Given the description of an element on the screen output the (x, y) to click on. 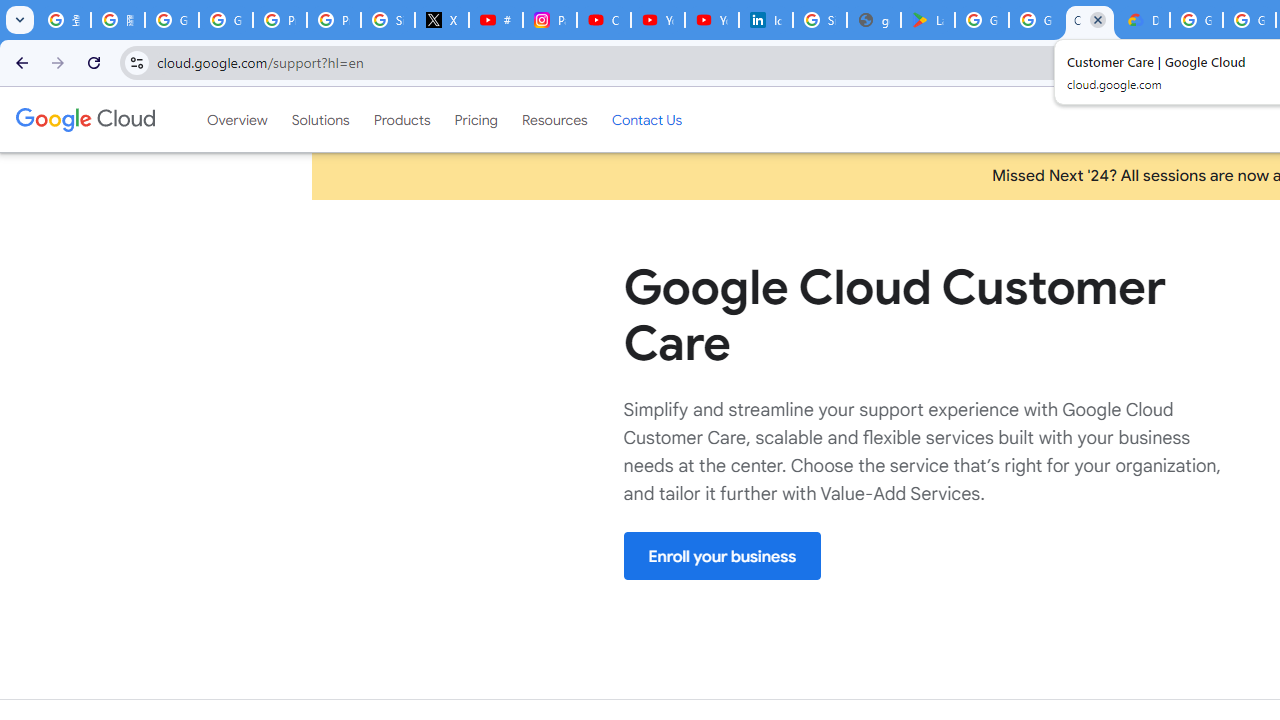
X (441, 20)
Resources (553, 119)
Privacy Help Center - Policies Help (333, 20)
#nbabasketballhighlights - YouTube (495, 20)
YouTube Culture & Trends - YouTube Top 10, 2021 (711, 20)
